Given the description of an element on the screen output the (x, y) to click on. 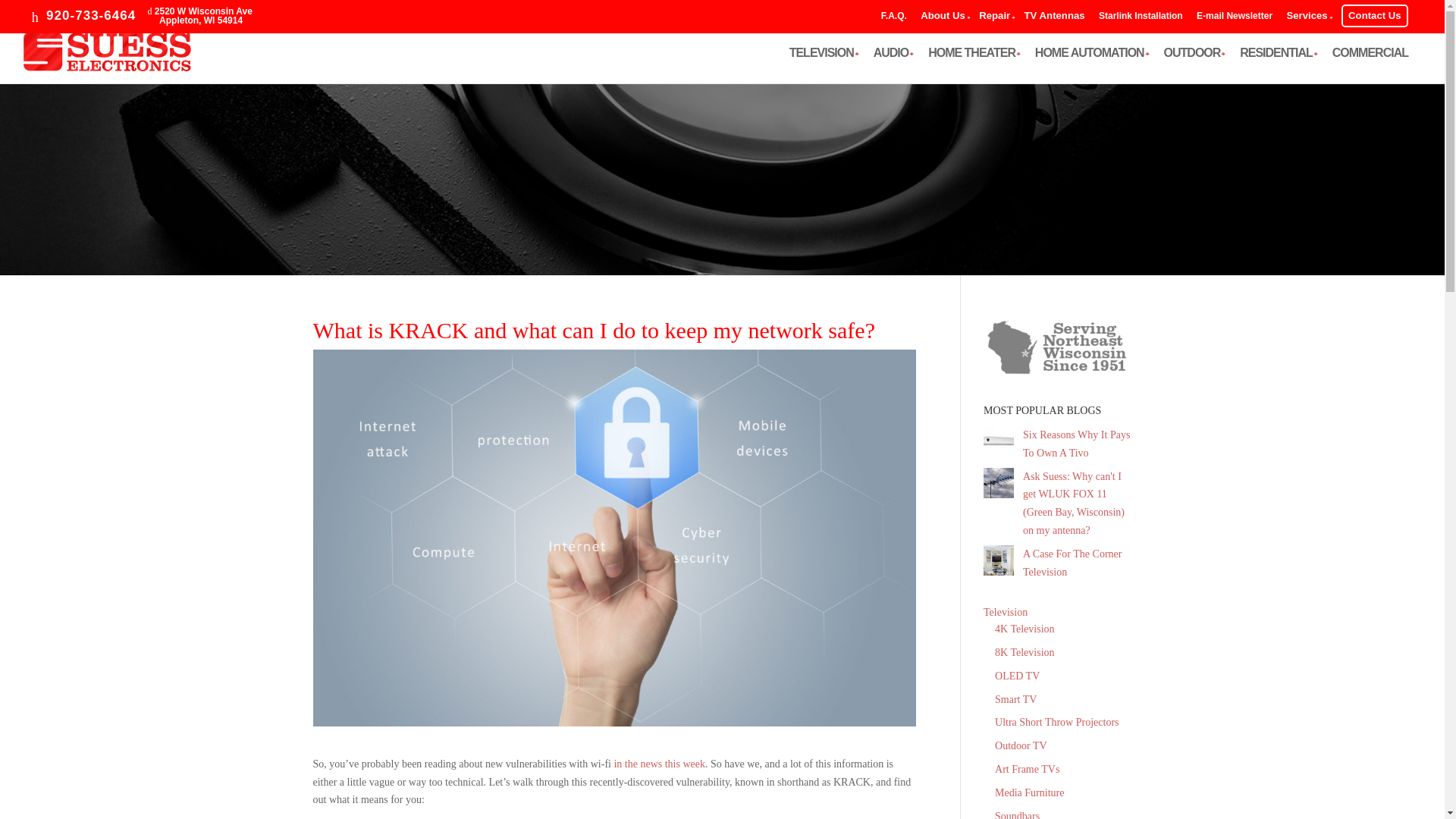
Starlink Installation (1140, 18)
A Case For The Corner Television (1072, 562)
Repair (994, 15)
Six Reasons Why It Pays To Own A Tivo (1076, 443)
F.A.Q. (893, 18)
E-mail Newsletter (199, 15)
Contact Us (1234, 18)
TELEVISION (1374, 15)
Services (821, 65)
